Given the description of an element on the screen output the (x, y) to click on. 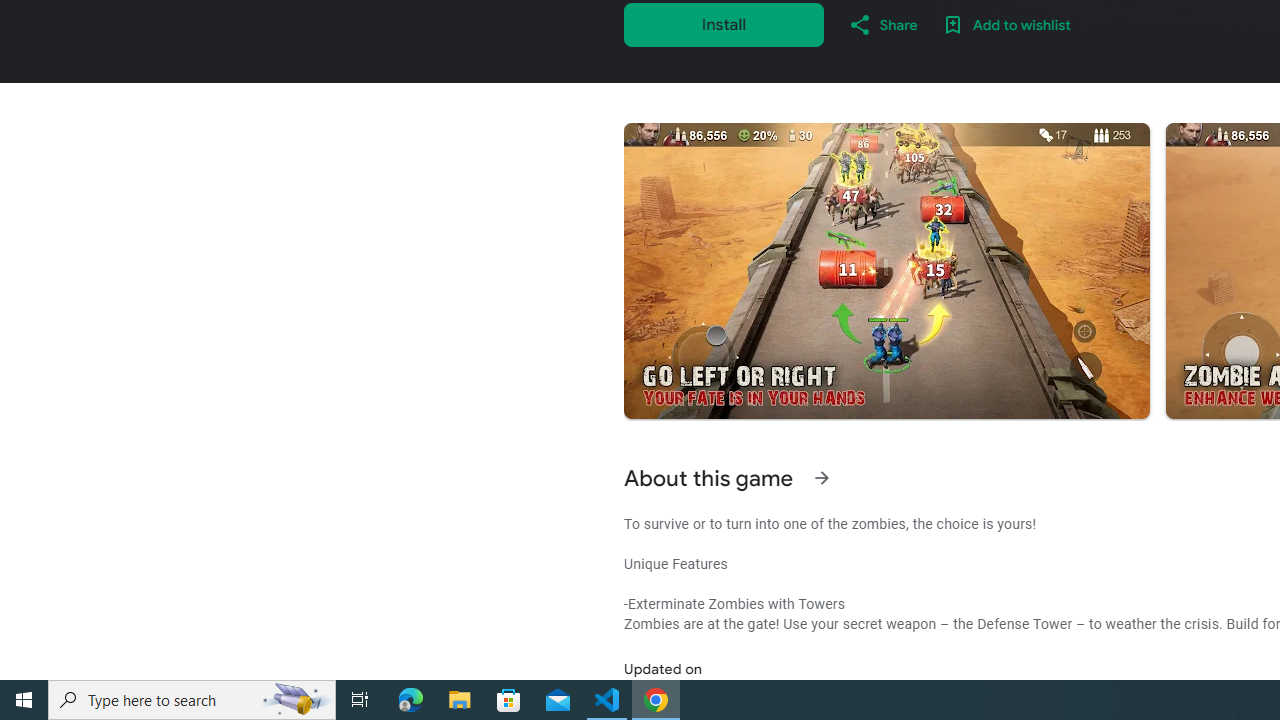
Screenshot image (886, 271)
Install (723, 24)
Add to wishlist (1006, 24)
Share (881, 24)
See more information on About this game (821, 477)
